Given the description of an element on the screen output the (x, y) to click on. 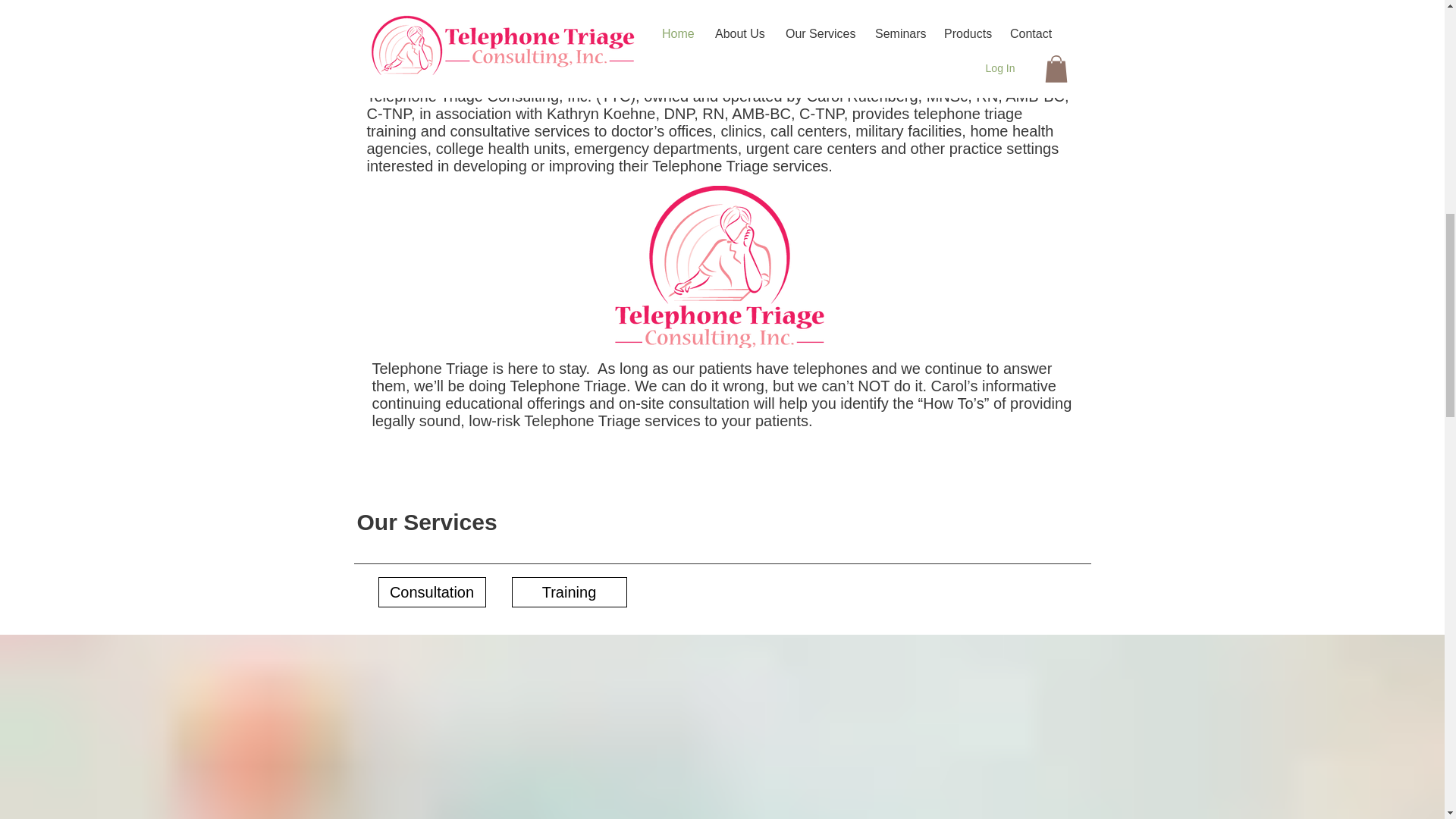
Training (568, 592)
Consultation (430, 592)
